Given the description of an element on the screen output the (x, y) to click on. 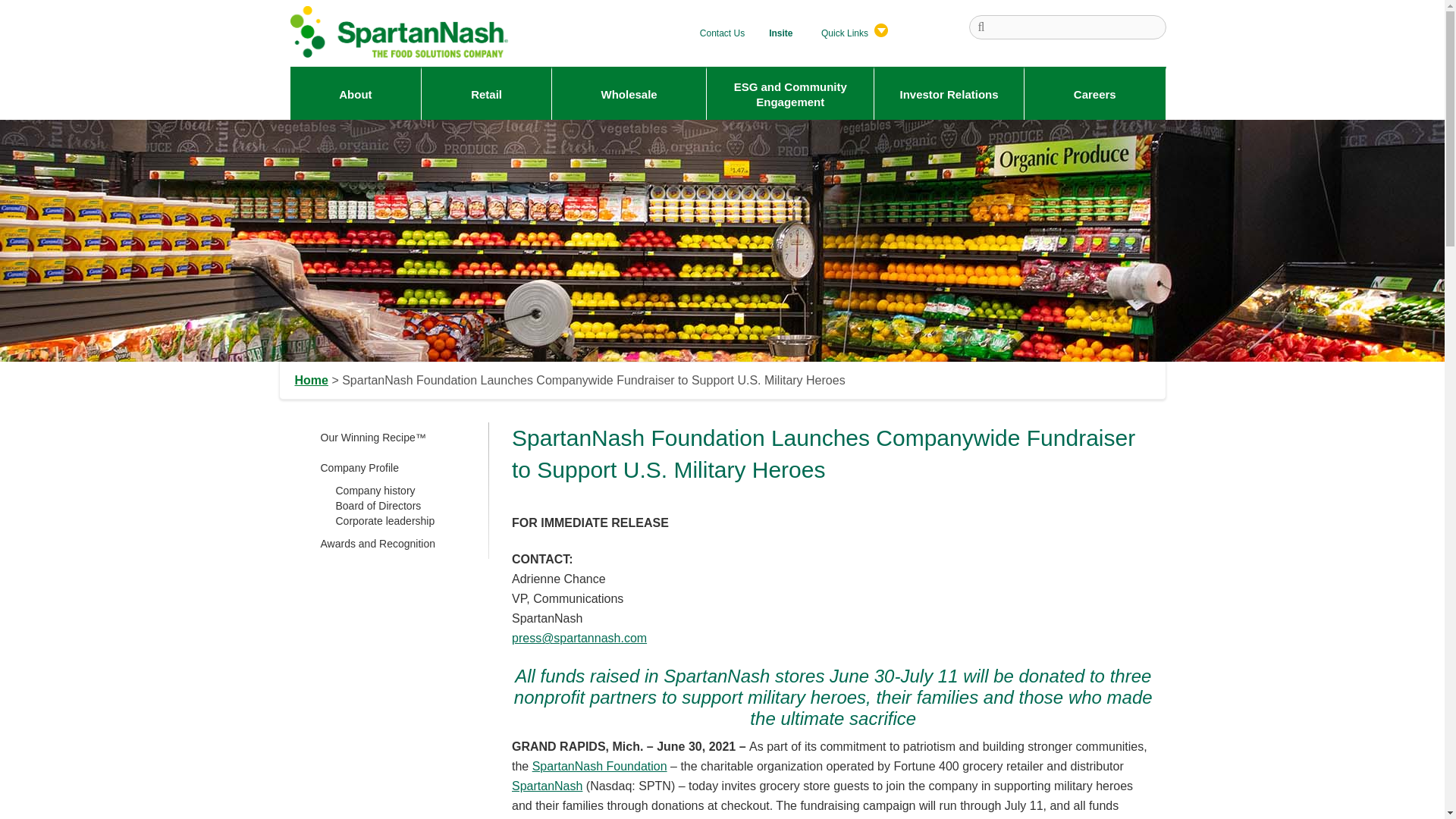
SpartanNash: The Food Solutions Company (399, 31)
Retail (486, 94)
Contact Us (721, 30)
Retail (486, 94)
Insite (780, 30)
Insite (780, 30)
Contact Us (721, 30)
About (354, 94)
About (354, 94)
Quick Links (851, 30)
Quick Links (851, 30)
